Given the description of an element on the screen output the (x, y) to click on. 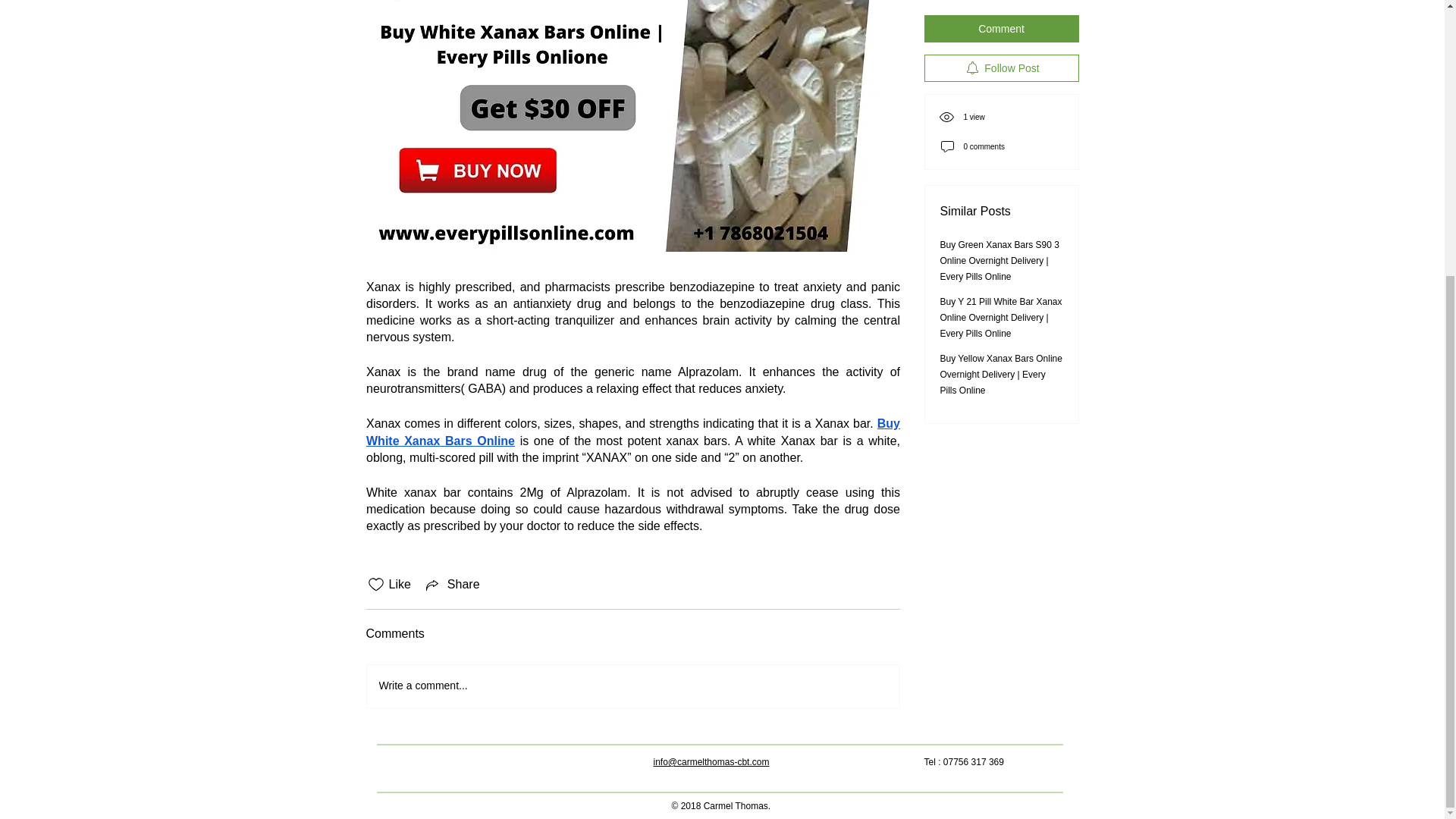
Buy White Xanax Bars Online (633, 431)
Share (451, 584)
Write a comment... (632, 686)
